Given the description of an element on the screen output the (x, y) to click on. 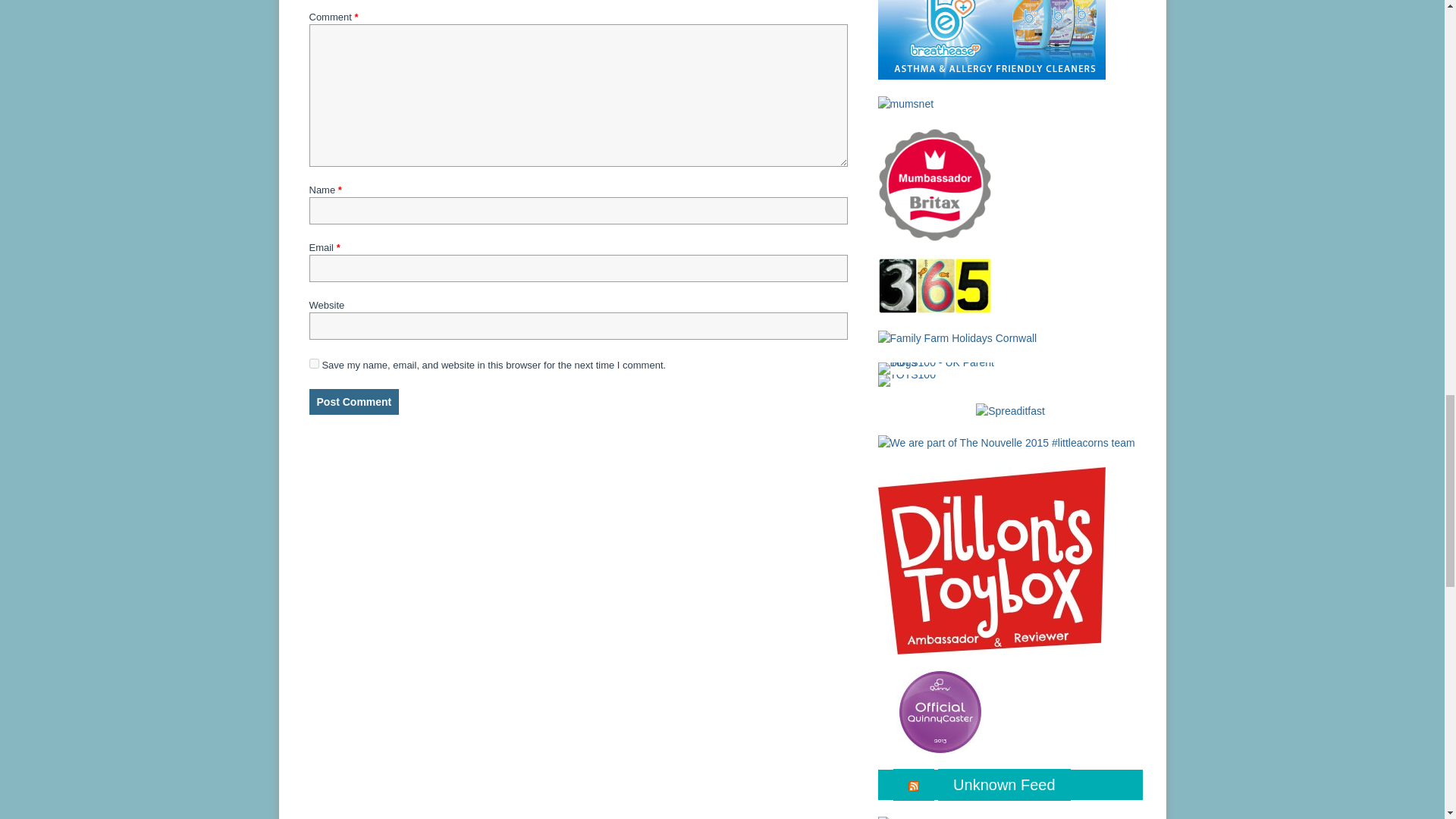
Post Comment (353, 401)
Post Comment (353, 401)
yes (313, 363)
TheBoyandMe's 365 Linky (934, 285)
